Given the description of an element on the screen output the (x, y) to click on. 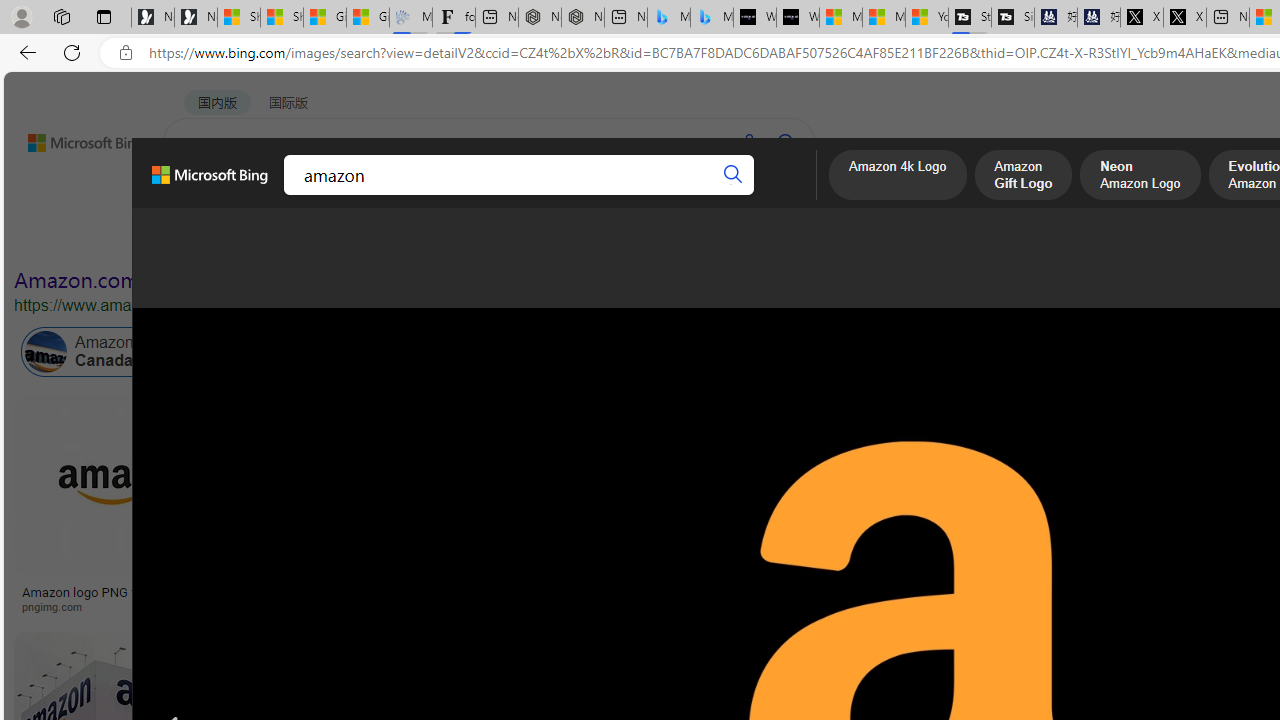
People (520, 237)
ACADEMIC (548, 195)
People (521, 237)
Image result for amazon (288, 675)
mytotalretail.com (364, 606)
Color (305, 237)
